Given the description of an element on the screen output the (x, y) to click on. 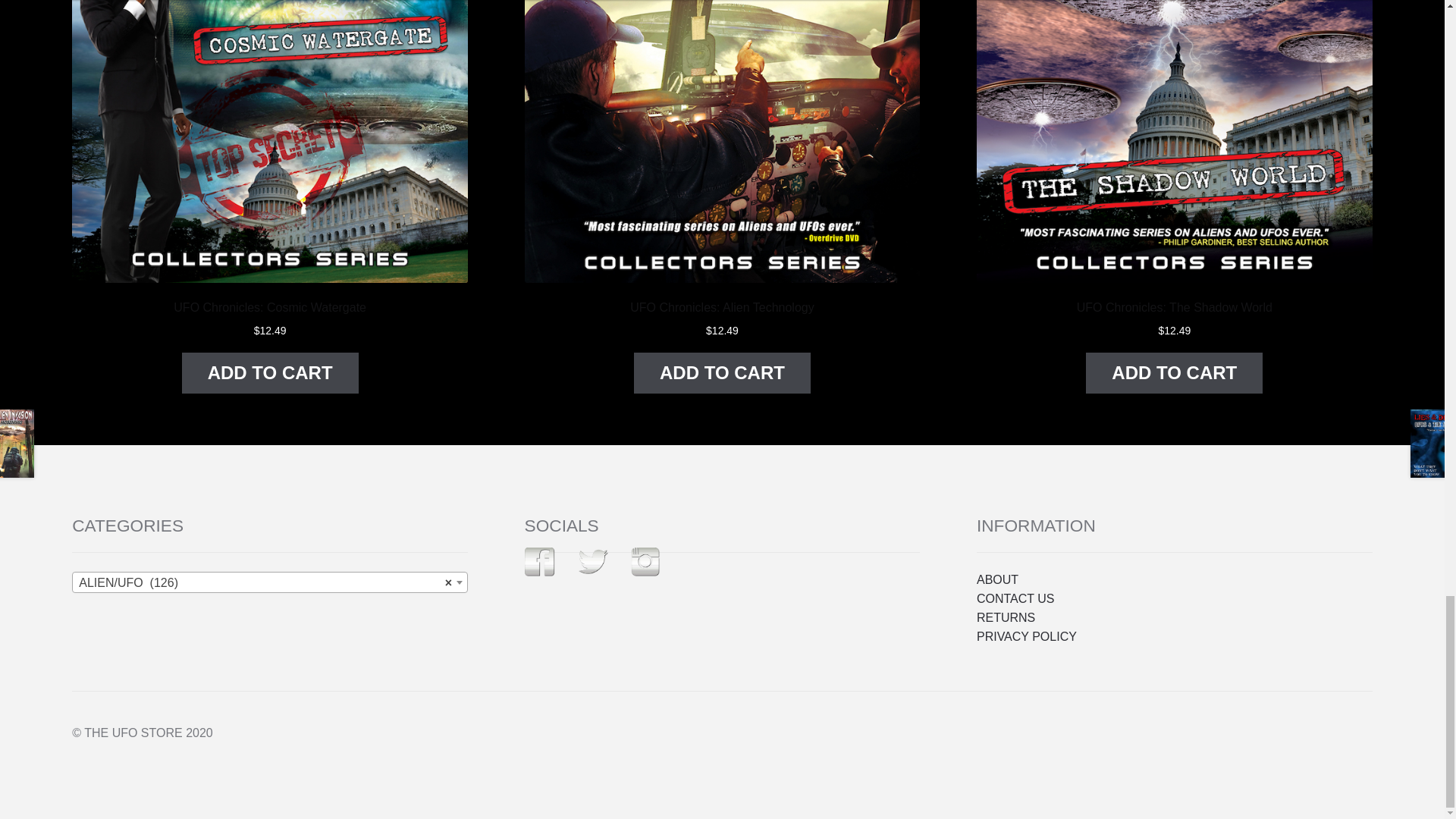
ADD TO CART (270, 372)
